Given the description of an element on the screen output the (x, y) to click on. 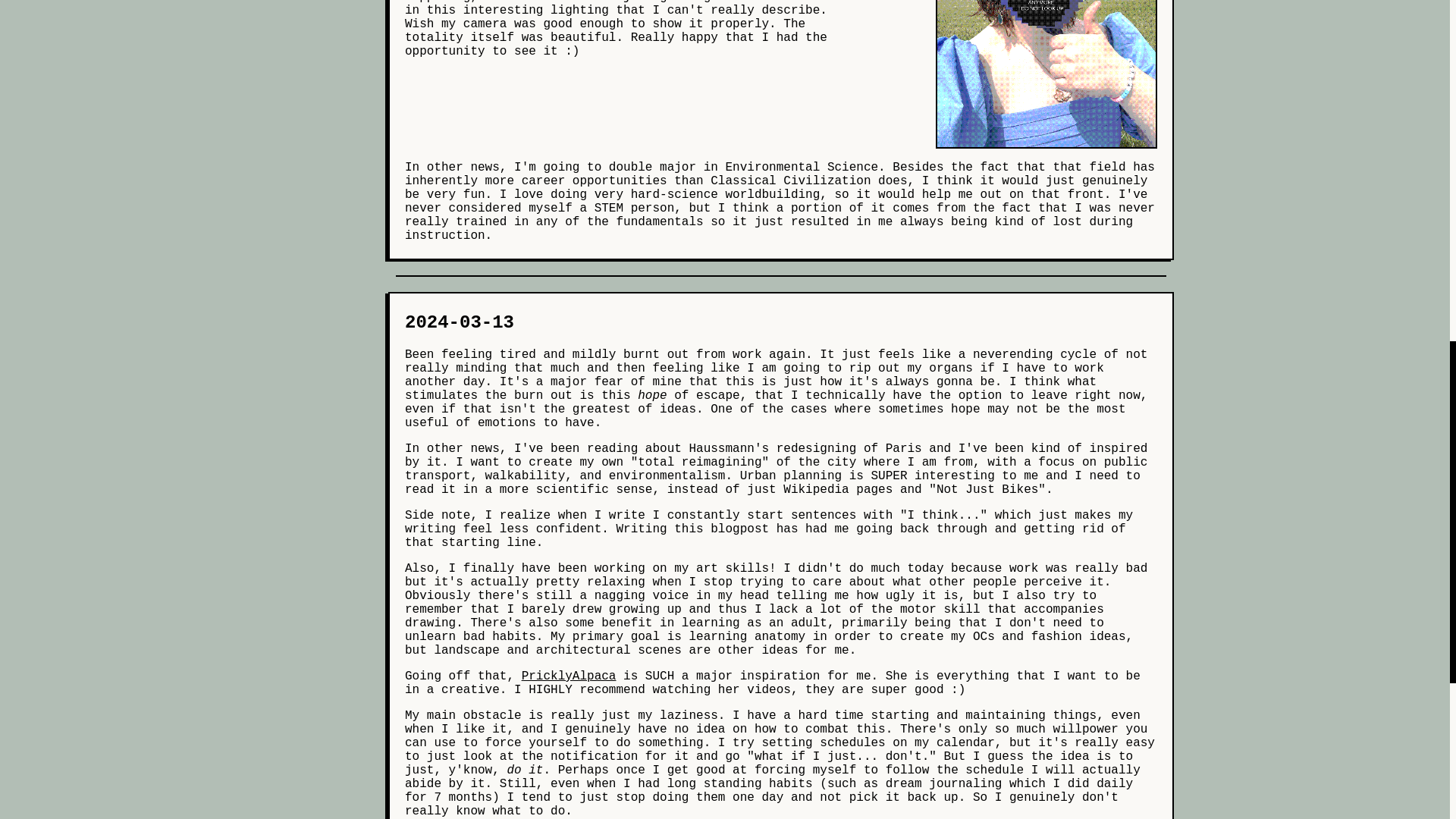
PricklyAlpaca (568, 676)
